Given the description of an element on the screen output the (x, y) to click on. 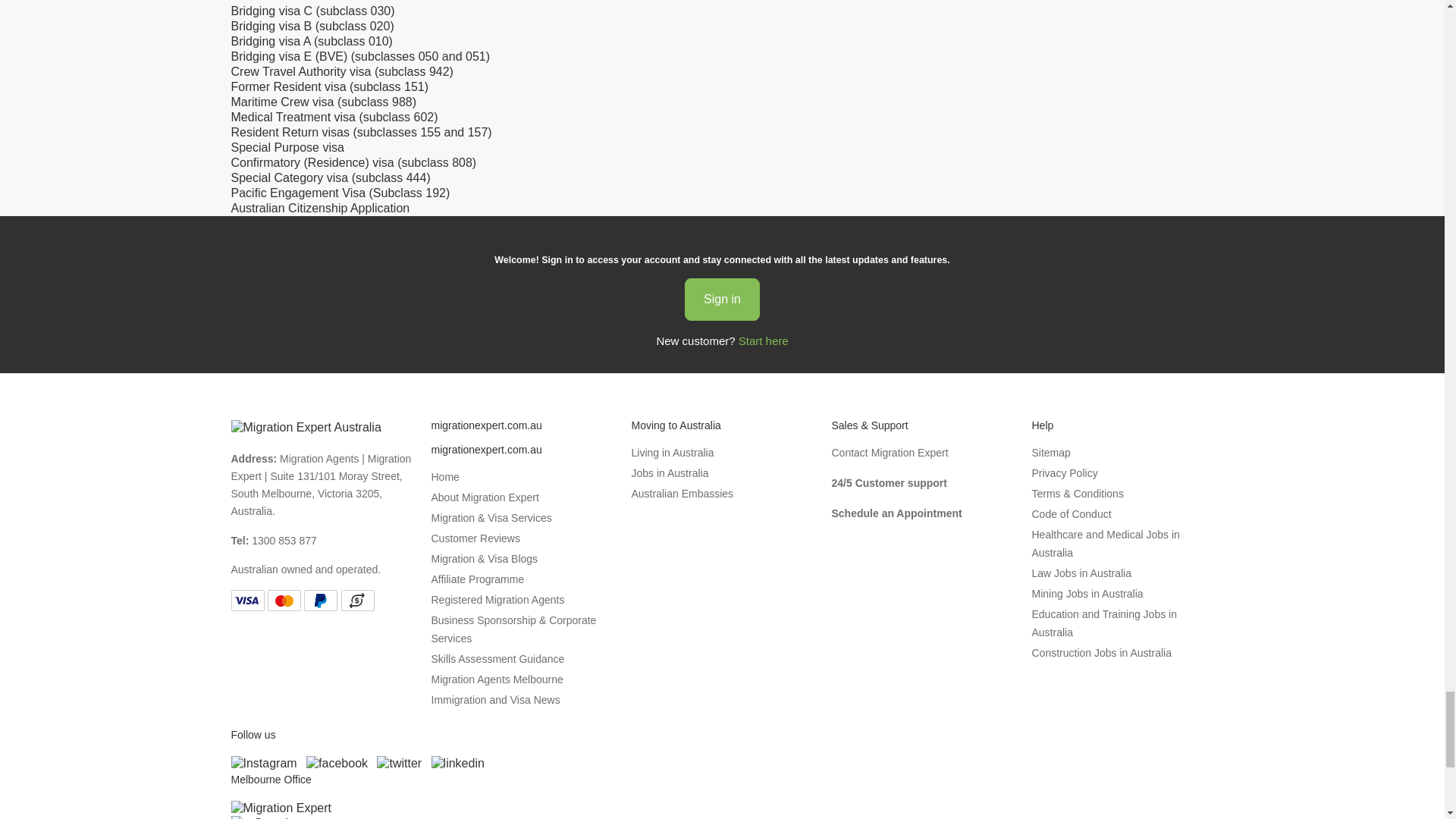
Bank Transfer (357, 599)
Mastercard (284, 599)
Paypal (320, 599)
Visa (246, 599)
